Given the description of an element on the screen output the (x, y) to click on. 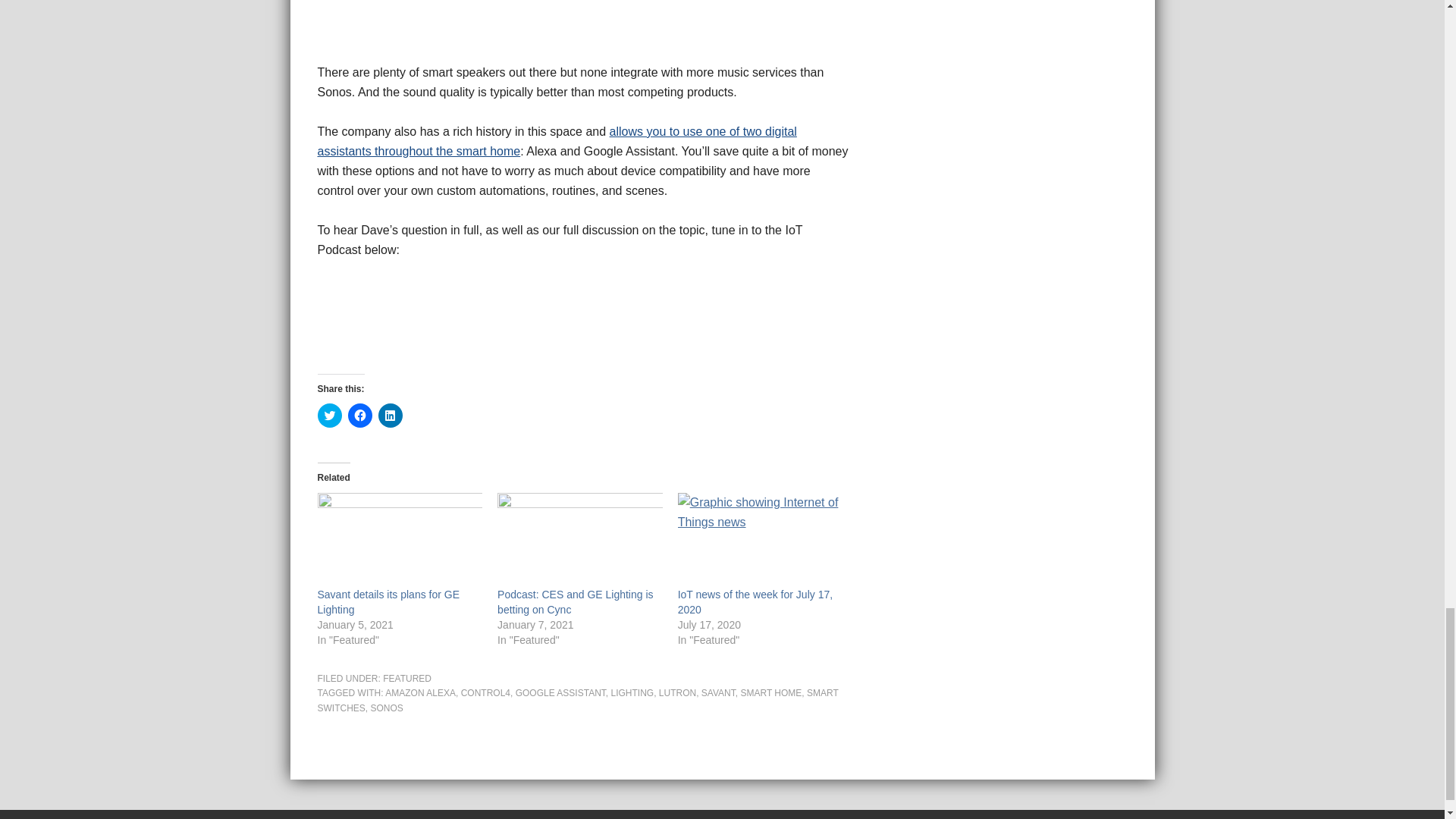
Podcast: CES and GE Lighting is betting on Cync (574, 601)
SAVANT (718, 692)
Click to share on LinkedIn (389, 415)
LIGHTING (632, 692)
Click to share on Facebook (359, 415)
Savant details its plans for GE Lighting (388, 601)
AMAZON ALEXA (420, 692)
FEATURED (406, 678)
Click to share on Twitter (328, 415)
GOOGLE ASSISTANT (560, 692)
Savant details its plans for GE Lighting (399, 540)
Podcast: CES and GE Lighting is betting on Cync (574, 601)
Podcast: CES and GE Lighting is betting on Cync (579, 540)
IoT news of the week for July 17, 2020 (755, 601)
